Given the description of an element on the screen output the (x, y) to click on. 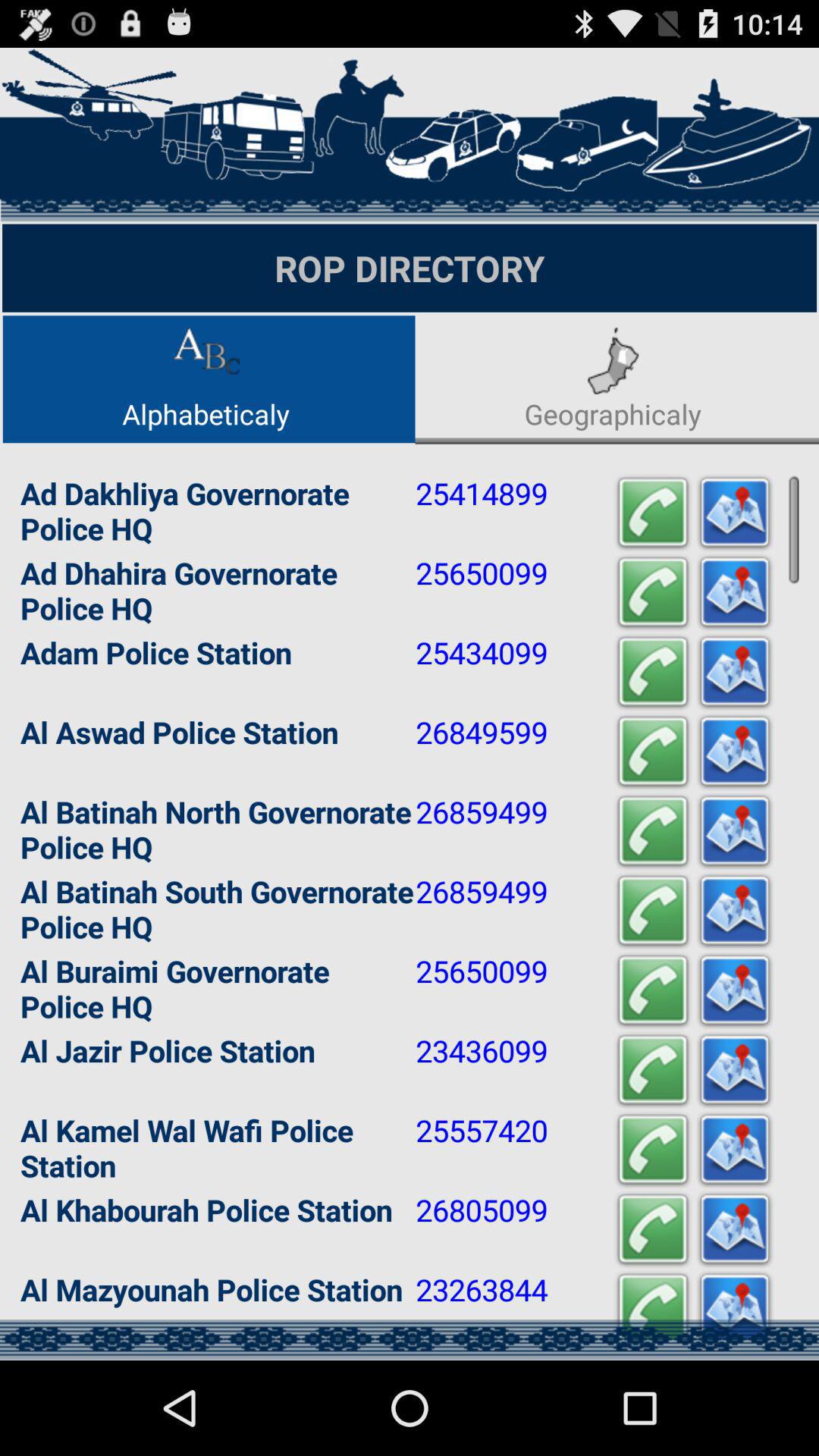
show location on map (734, 1070)
